Given the description of an element on the screen output the (x, y) to click on. 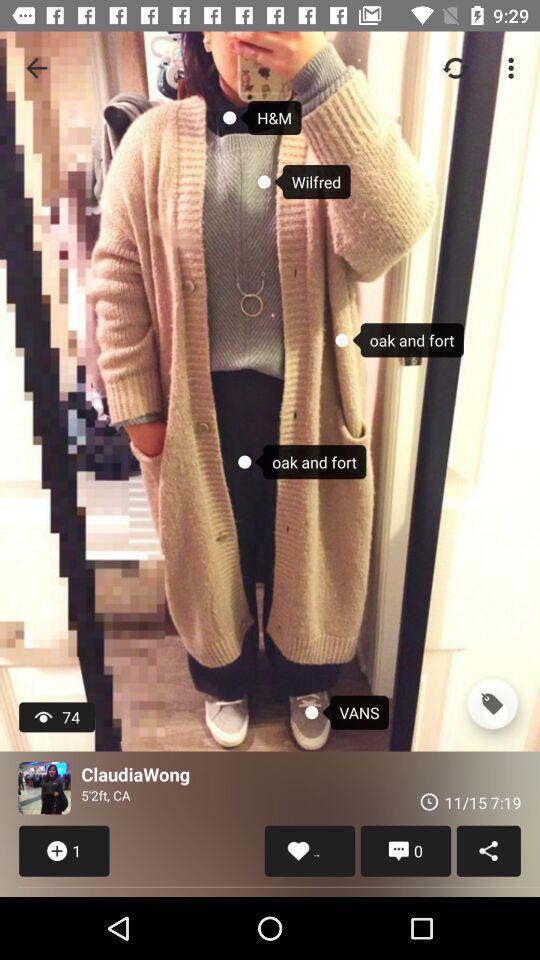
select image (44, 788)
